Given the description of an element on the screen output the (x, y) to click on. 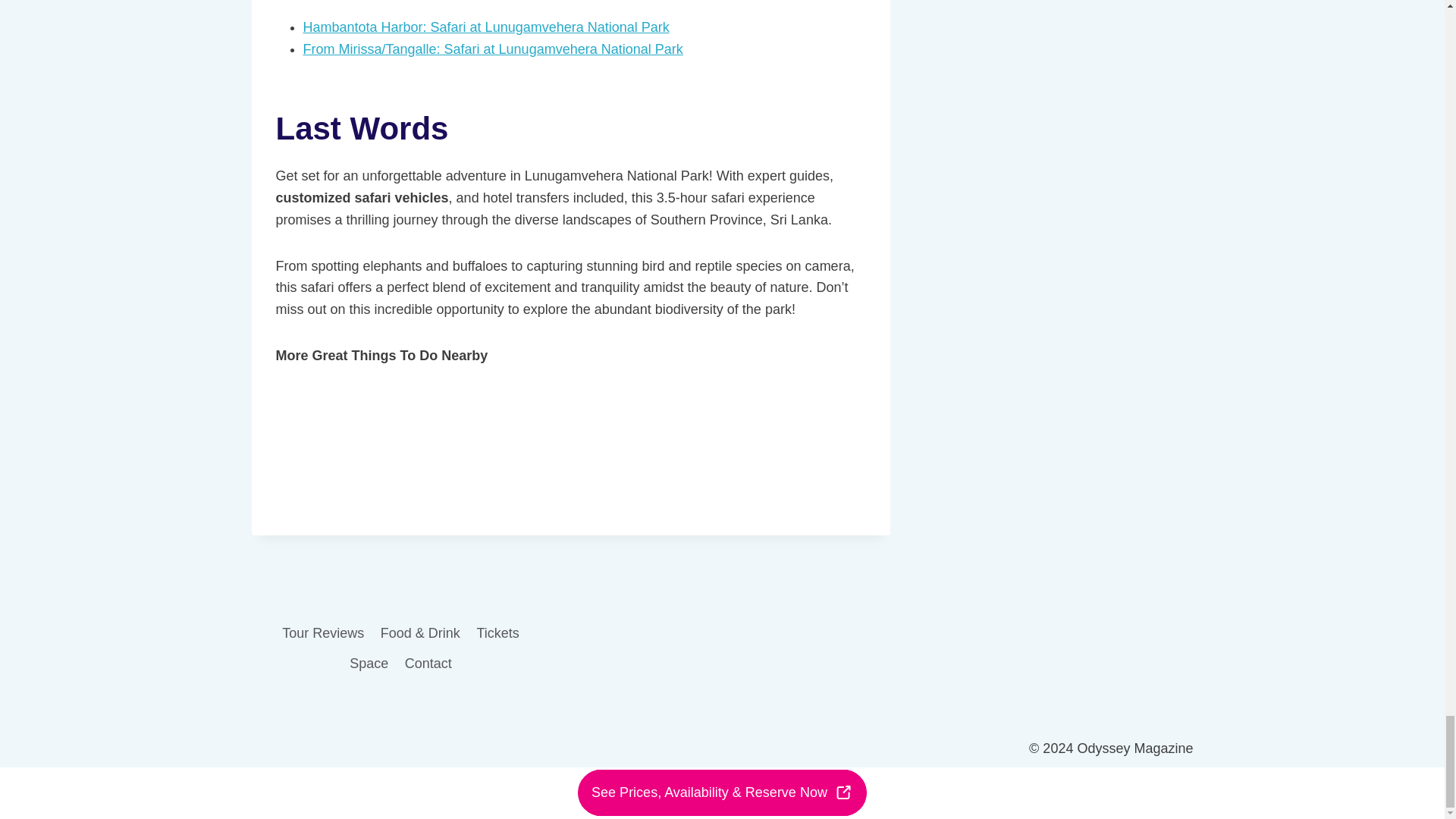
GetYourGuide Widget (571, 448)
